Given the description of an element on the screen output the (x, y) to click on. 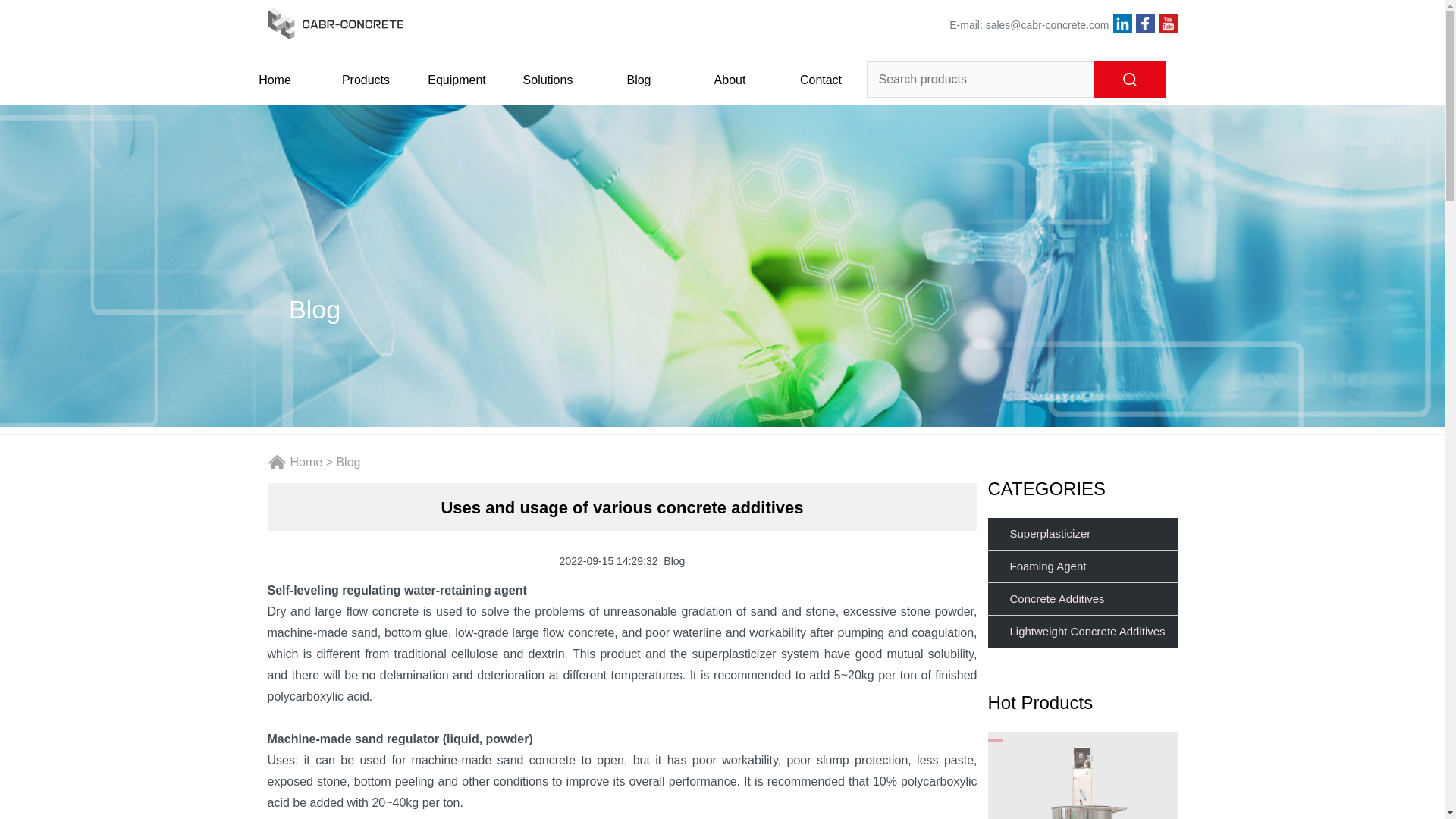
Concrete Additives (1081, 599)
Concrete Additives (1081, 599)
Lightweight Concrete Additives (1081, 631)
Solutions (547, 80)
Foam Concrete Mixer Small Concrete Machine Mixer (1081, 775)
Home (305, 461)
Lightweight Concrete Additives (1081, 631)
Contact (820, 80)
Foaming Agent (1081, 566)
Equipment (456, 80)
Blog (638, 80)
Foaming agent (1081, 566)
Superplasticizer (1081, 533)
Superplasticizer (1081, 533)
About (729, 80)
